Given the description of an element on the screen output the (x, y) to click on. 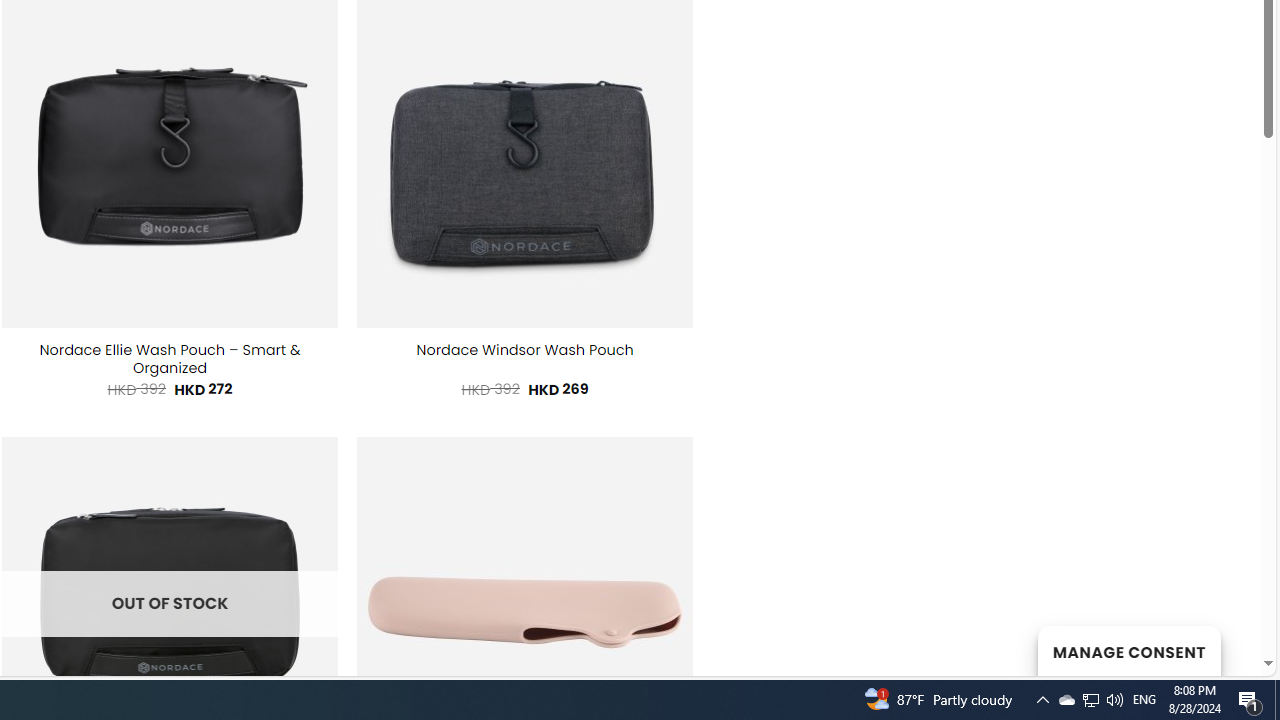
Nordace Windsor Wash Pouch (524, 350)
MANAGE CONSENT (1128, 650)
